Given the description of an element on the screen output the (x, y) to click on. 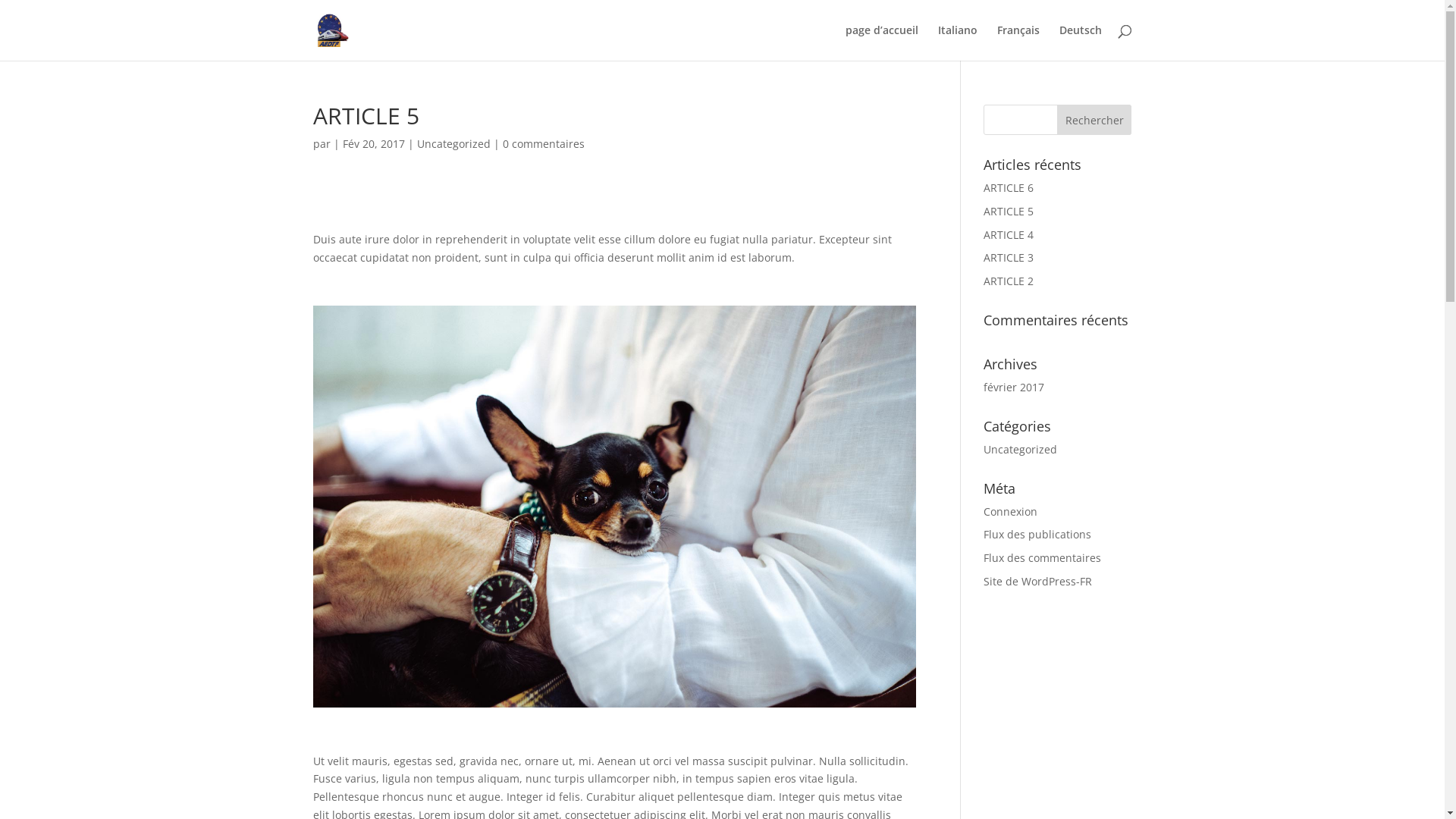
Flux des commentaires Element type: text (1042, 557)
ARTICLE 3 Element type: text (1008, 257)
Flux des publications Element type: text (1037, 534)
Italiano Element type: text (956, 42)
ARTICLE 2 Element type: text (1008, 280)
Uncategorized Element type: text (1020, 449)
Deutsch Element type: text (1079, 42)
ARTICLE 4 Element type: text (1008, 234)
ARTICLE 6 Element type: text (1008, 187)
0 commentaires Element type: text (542, 143)
Uncategorized Element type: text (453, 143)
Connexion Element type: text (1010, 511)
ARTICLE 5 Element type: text (1008, 210)
Rechercher Element type: text (1094, 119)
Site de WordPress-FR Element type: text (1037, 581)
